Given the description of an element on the screen output the (x, y) to click on. 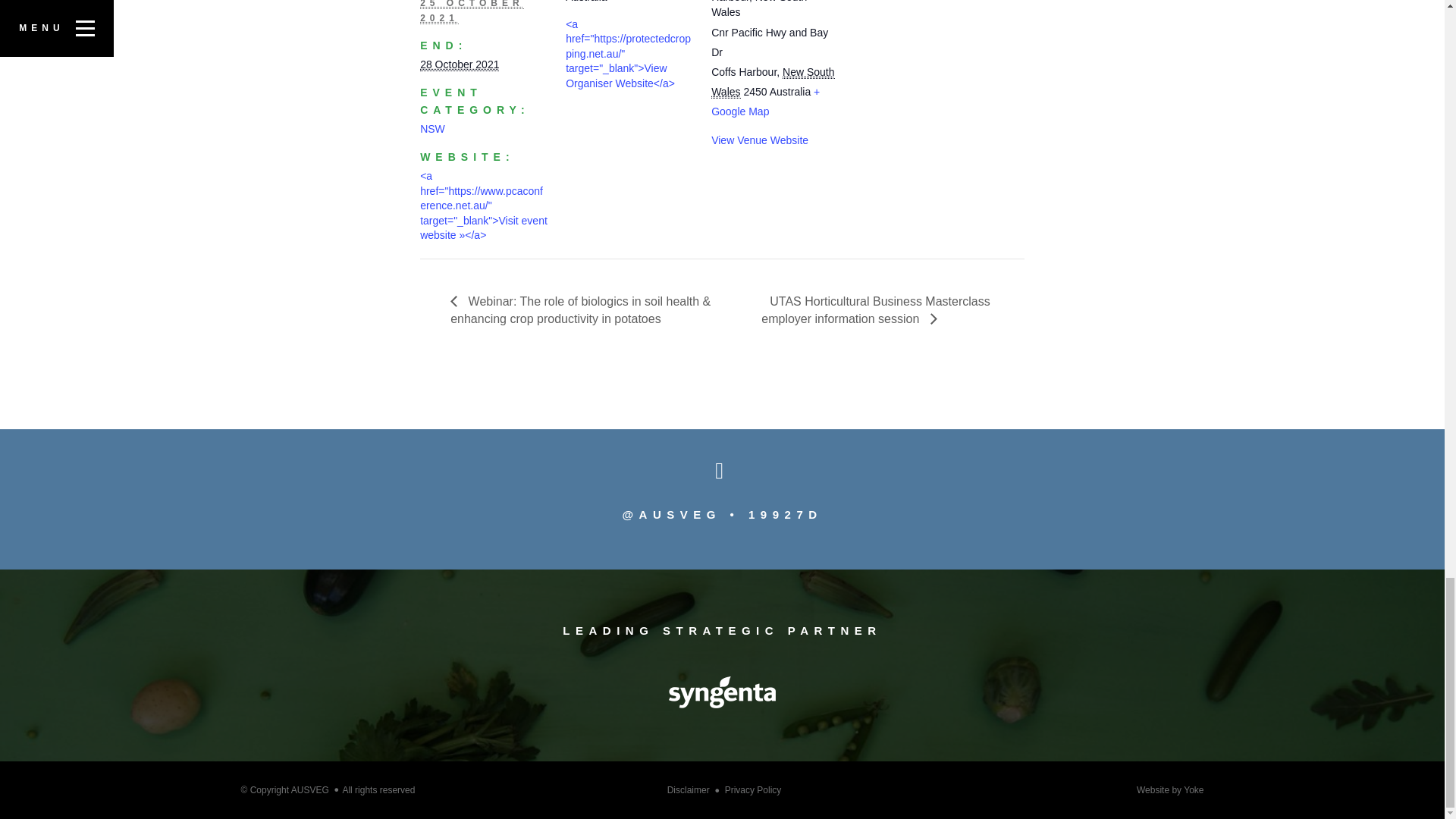
2021-10-28 (459, 64)
Click to view a Google Map (765, 101)
New South Wales (772, 82)
2021-10-25 (471, 12)
